Given the description of an element on the screen output the (x, y) to click on. 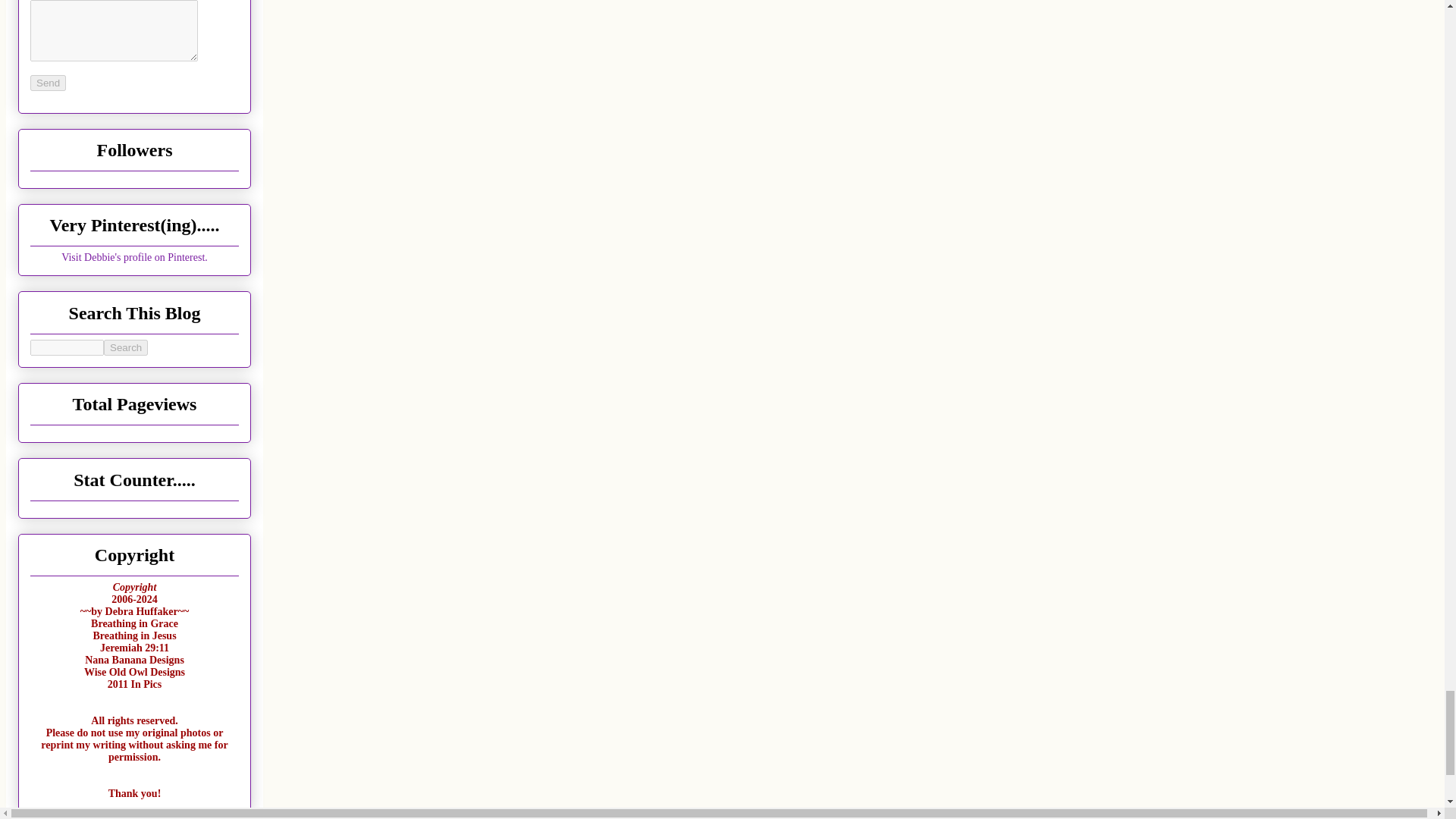
Search (125, 347)
Search (125, 347)
Send (47, 82)
search (66, 347)
search (125, 347)
